Given the description of an element on the screen output the (x, y) to click on. 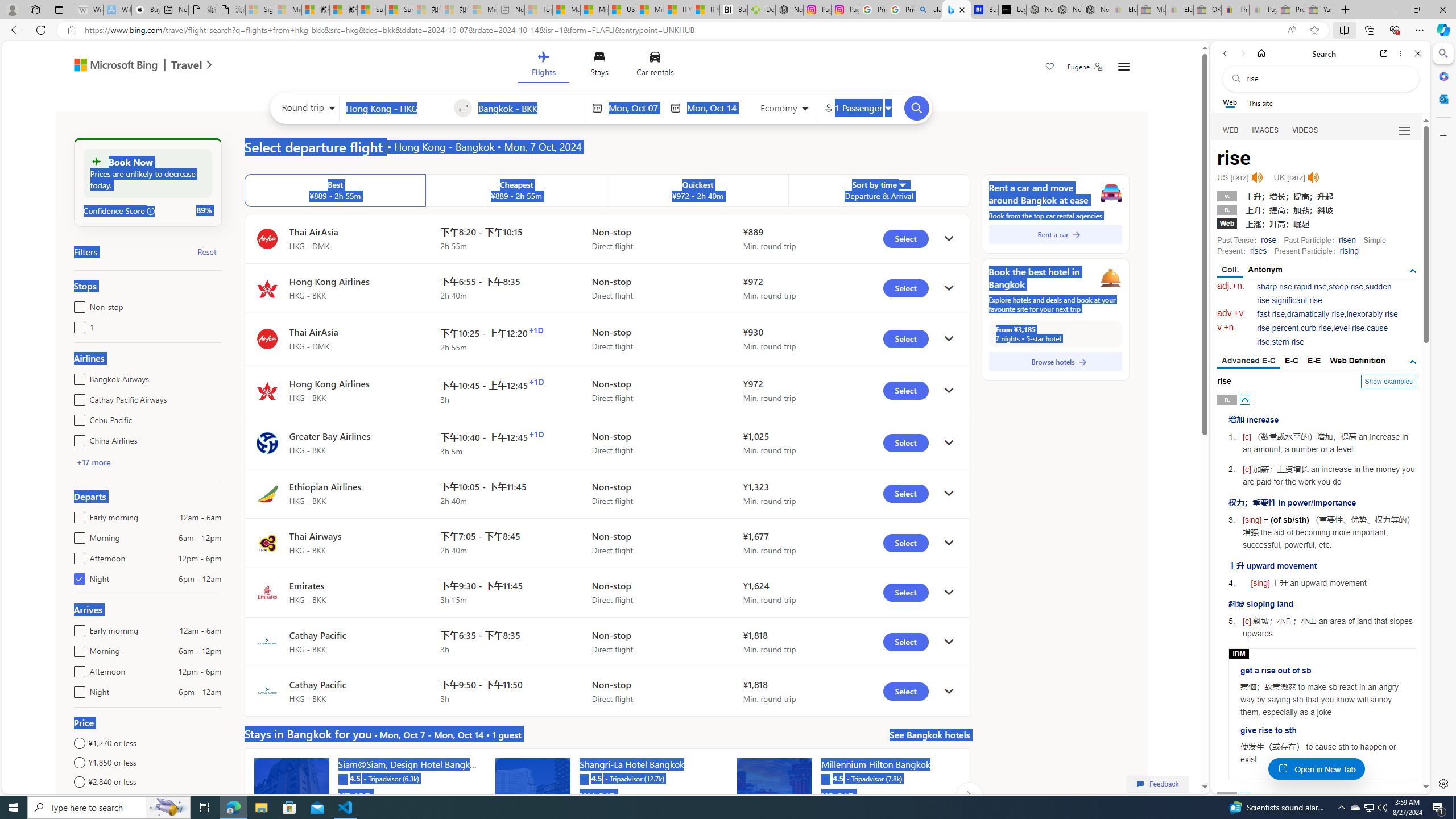
Leaving from? (396, 107)
Descarga Driver Updater (761, 9)
curb rise (1315, 328)
Search Filter, WEB (1231, 129)
Stays (598, 65)
IMAGES (1265, 130)
rise percent (1277, 328)
AutomationID: tgdef (1412, 362)
Sort by time Sorter Departure & Arrival (879, 190)
